Given the description of an element on the screen output the (x, y) to click on. 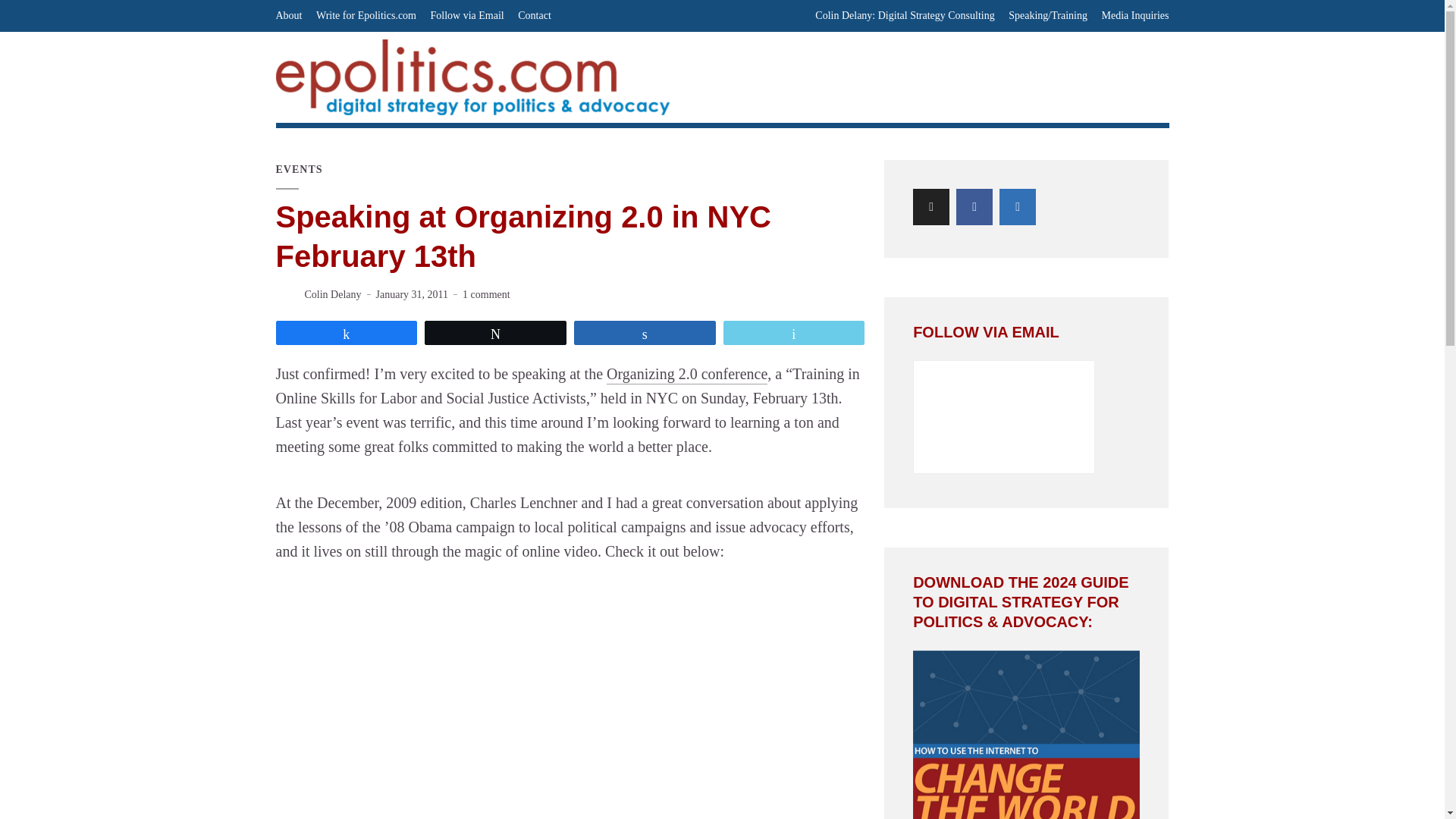
linkedin (1016, 207)
Facebook (974, 207)
Linkedin (1016, 207)
Colin Delany (332, 293)
Media Inquiries (1134, 15)
EVENTS (299, 169)
Write for Epolitics.com (365, 15)
Colin Delany: Digital Strategy Consulting (904, 15)
facebook (974, 207)
Follow via Email (466, 15)
1 comment (487, 293)
Organizing 2.0 conference (687, 374)
twitter (930, 207)
1 comment (487, 293)
Contact (534, 15)
